Given the description of an element on the screen output the (x, y) to click on. 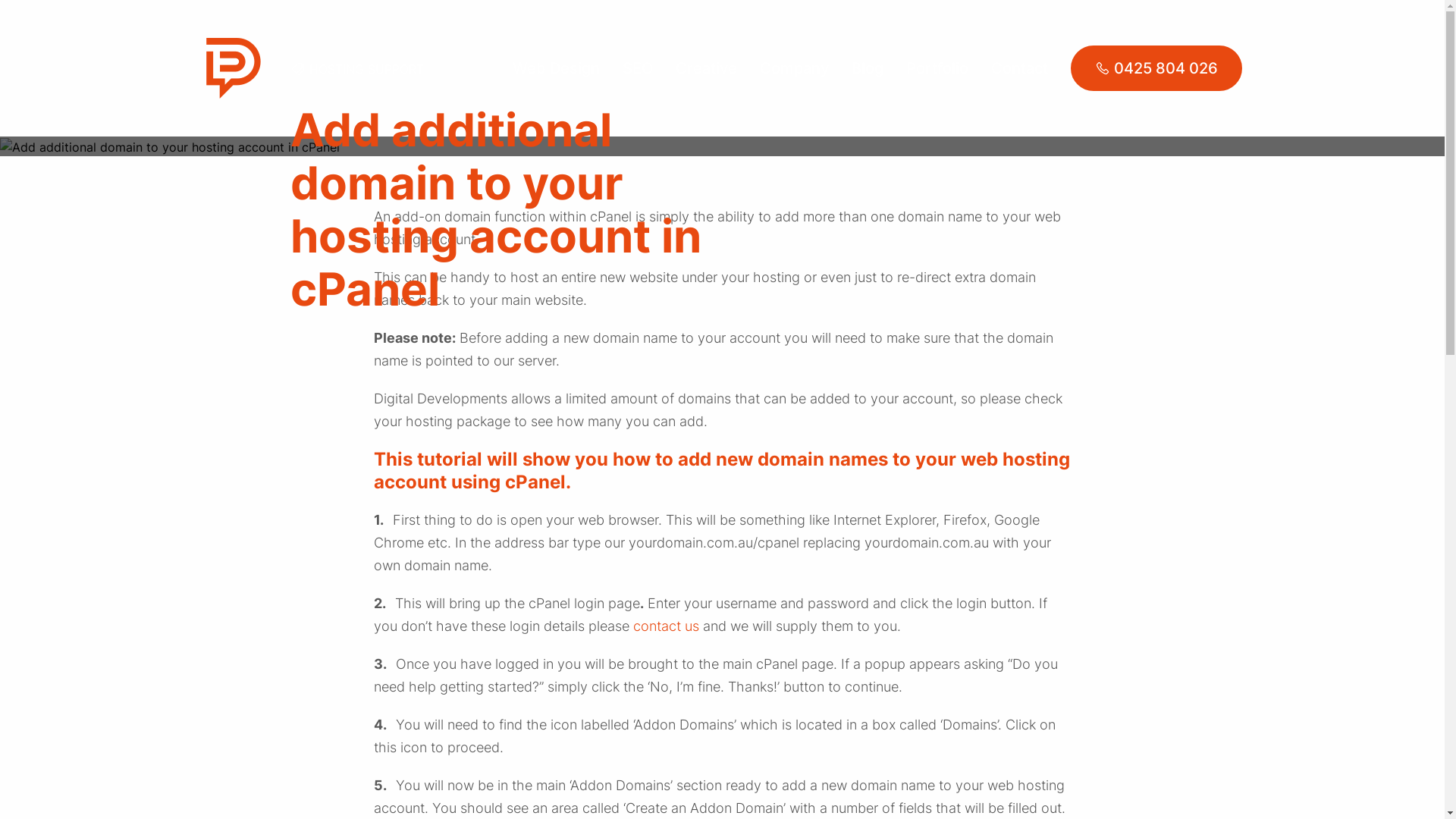
Creative Element type: text (705, 68)
Company Element type: text (793, 68)
contact us Element type: text (665, 625)
Portfolio Element type: text (936, 68)
Contact Element type: text (1018, 68)
0425 804 026 Element type: text (1156, 68)
HOSTING SUPPORT Element type: text (366, 67)
SEO Element type: text (636, 68)
Blog Element type: text (866, 68)
Web Design Element type: text (555, 68)
